Given the description of an element on the screen output the (x, y) to click on. 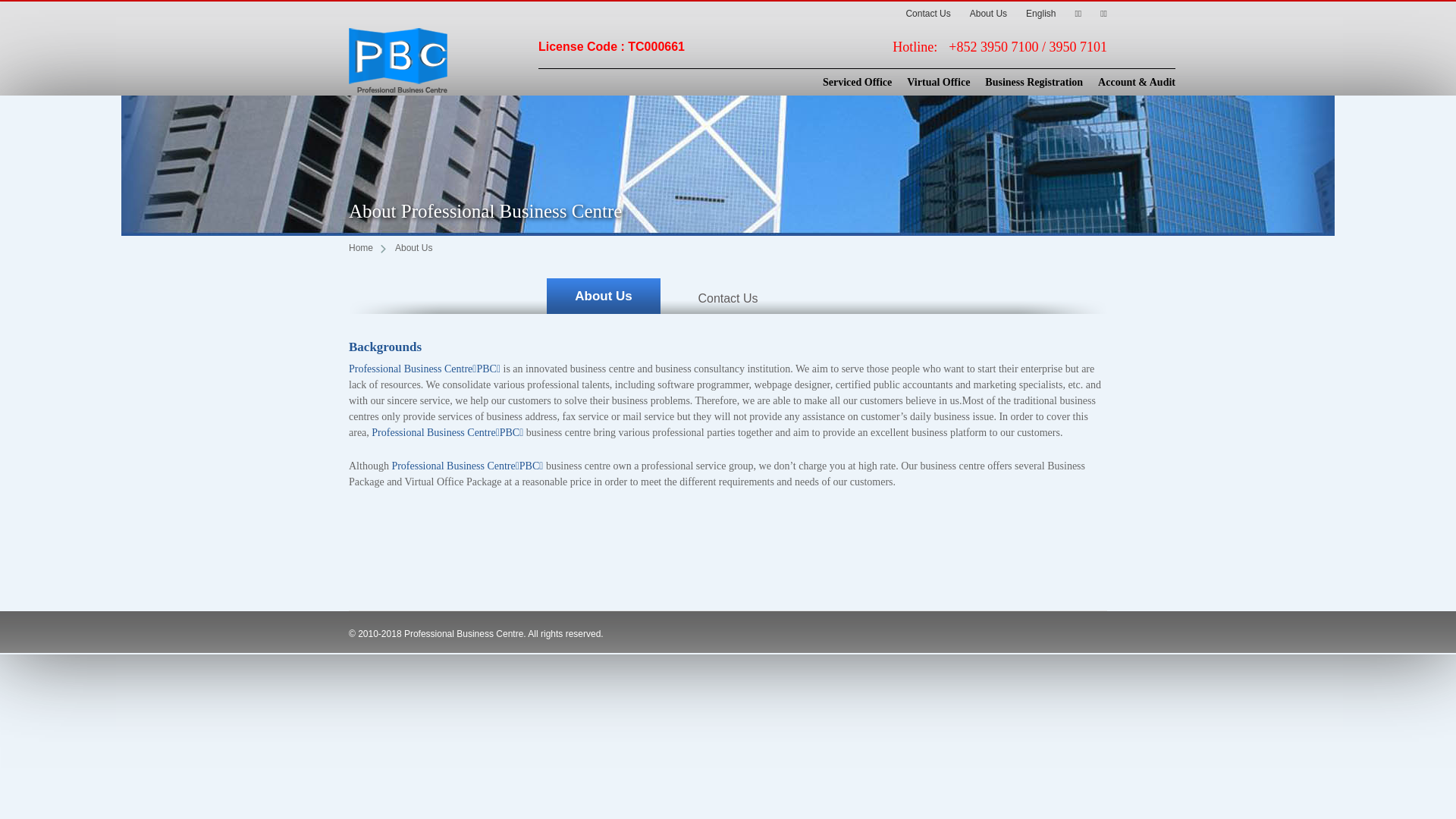
Contact Us Element type: text (927, 13)
About Us Element type: text (983, 13)
Hotline:+852 3950 7100 / 3950 7101 Element type: text (999, 46)
  Contact Us
  Element type: text (727, 298)
English Element type: text (1035, 13)
Business Registration Element type: text (1025, 82)
Virtual Office Element type: text (930, 82)
Serviced Office Element type: text (849, 82)
Account & Audit Element type: text (1128, 82)
Home Element type: text (366, 247)
